Given the description of an element on the screen output the (x, y) to click on. 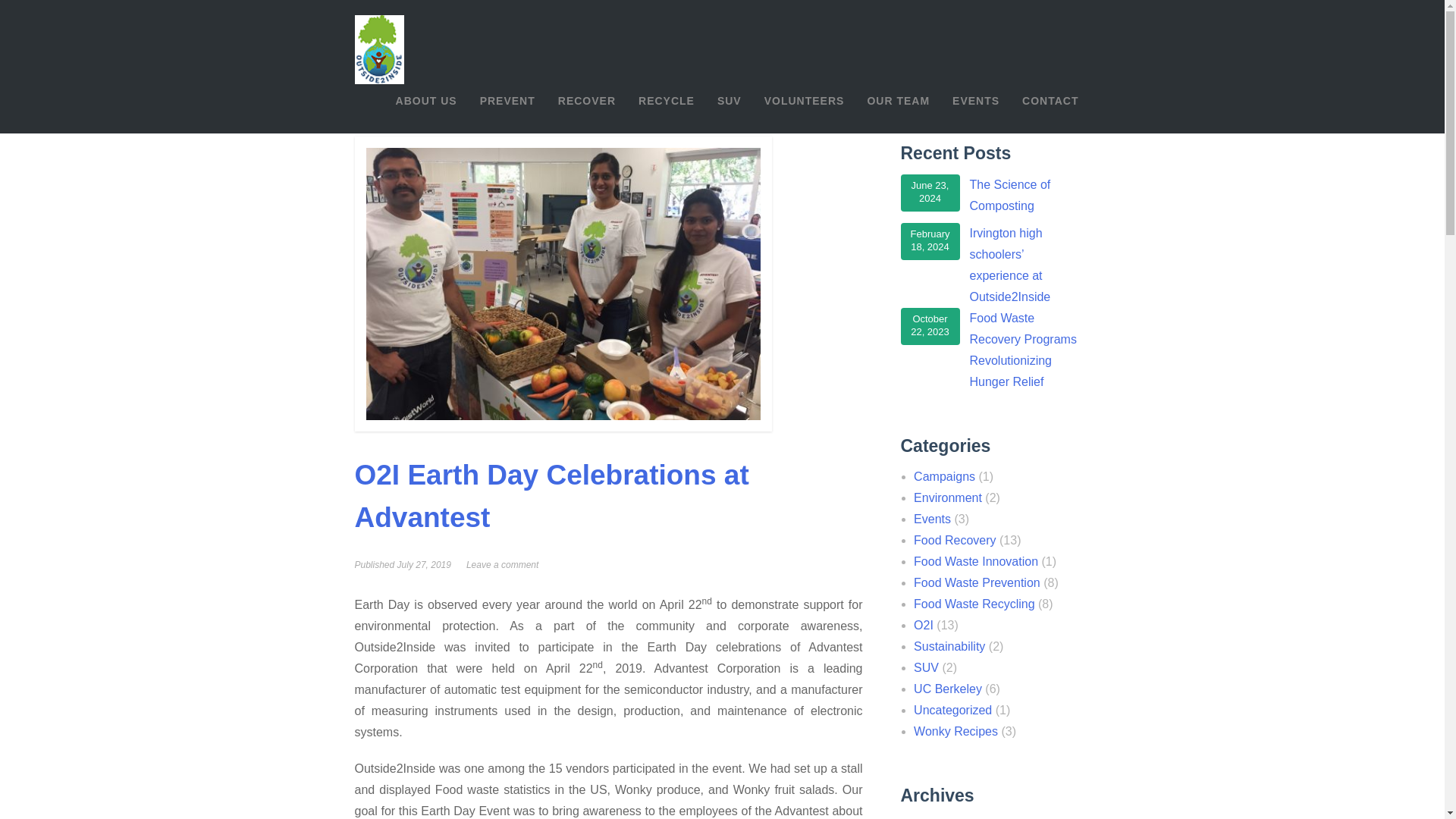
UC Berkeley (947, 688)
O2I Earth Day Celebrations at Advantest (552, 496)
O2I (923, 625)
OUR TEAM (898, 100)
Leave a comment (501, 564)
SUV (926, 667)
Food Waste Prevention (977, 582)
RECYCLE (666, 100)
PREVENT (507, 100)
July 27, 2019 (424, 564)
VOLUNTEERS (804, 100)
The Science of Composting (1026, 195)
Sustainability (949, 645)
Food Waste Recovery Programs Revolutionizing Hunger Relief (1026, 350)
Events (932, 518)
